Given the description of an element on the screen output the (x, y) to click on. 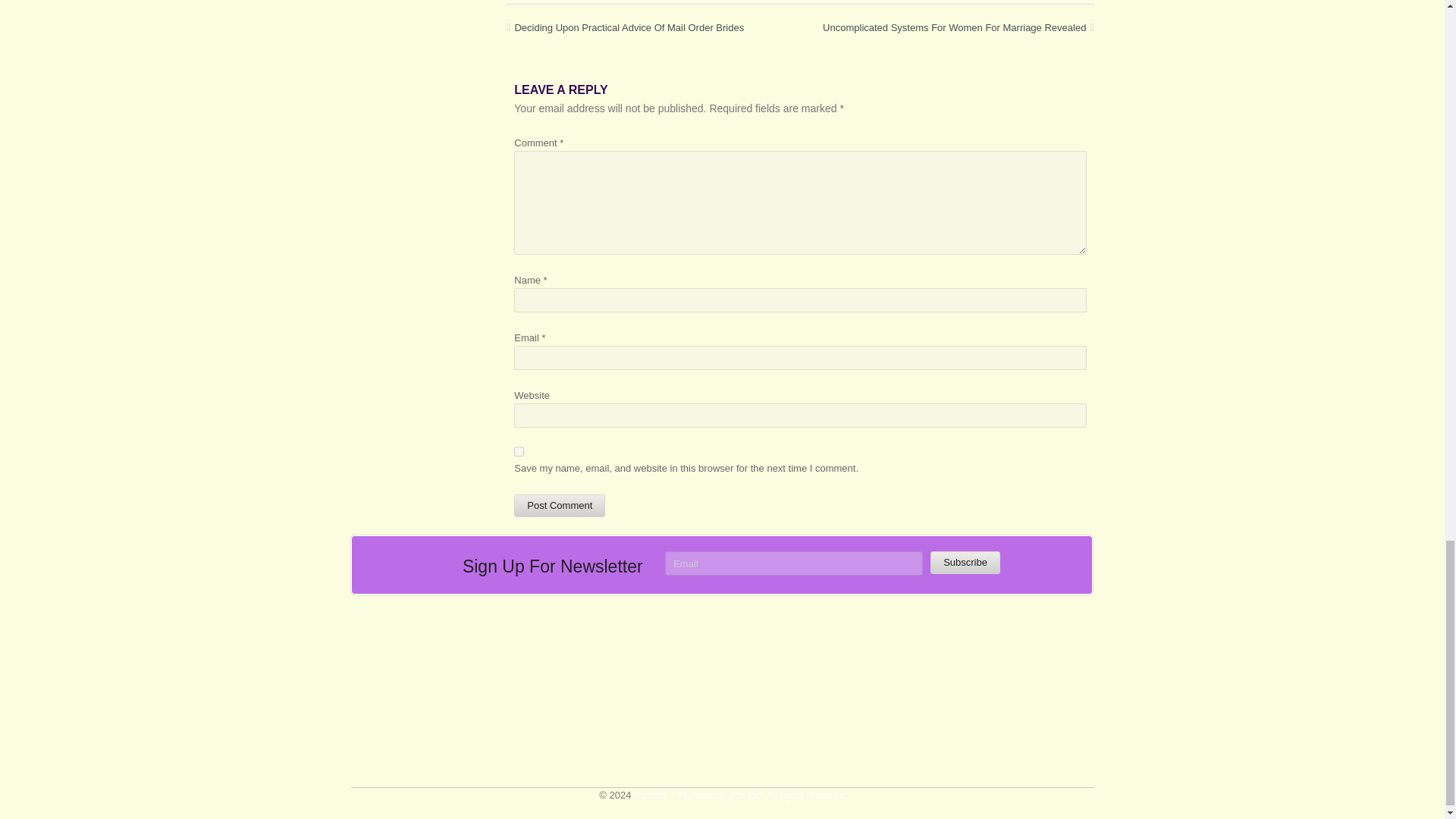
yes (518, 451)
Post Comment (559, 505)
Deciding Upon Practical Advice Of Mail Order Brides (625, 28)
System 7 Technology Pte Ltd (739, 794)
Post Comment (559, 505)
Uncomplicated Systems For Women For Marriage Revealed (957, 28)
Subscribe (965, 562)
Subscribe (965, 562)
